Given the description of an element on the screen output the (x, y) to click on. 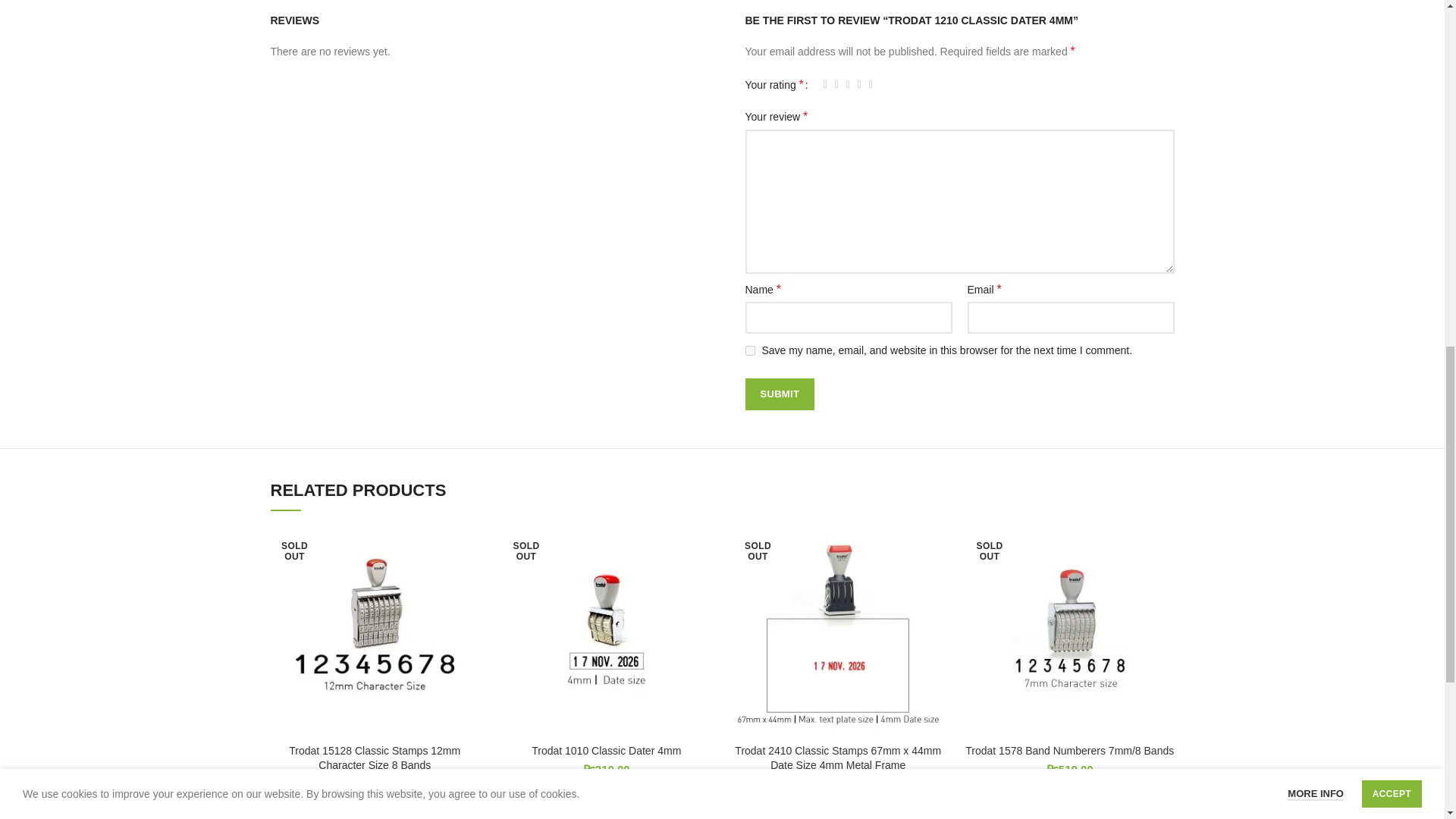
yes (749, 350)
Submit (778, 394)
